Given the description of an element on the screen output the (x, y) to click on. 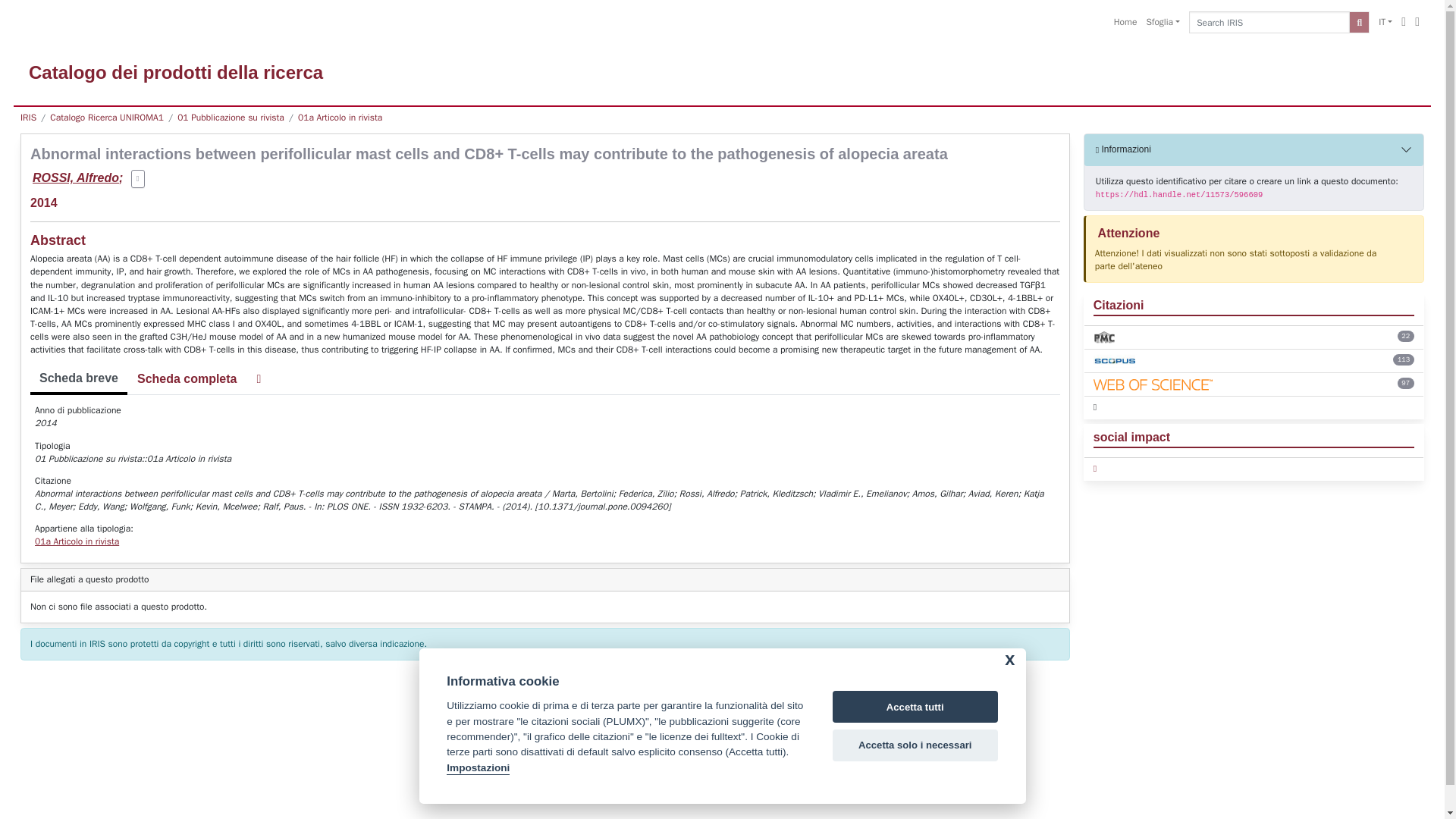
01a Articolo in rivista (76, 541)
IT (1385, 22)
ROSSI, Alfredo (75, 177)
Catalogo Ricerca UNIROMA1 (106, 117)
IRIS (28, 117)
aggiornato in data 19-08-2022 13:46 (1405, 336)
01a Articolo in rivista (339, 117)
01 Pubblicazione su rivista (230, 117)
 Informazioni (1253, 149)
Sfoglia (1163, 22)
